Given the description of an element on the screen output the (x, y) to click on. 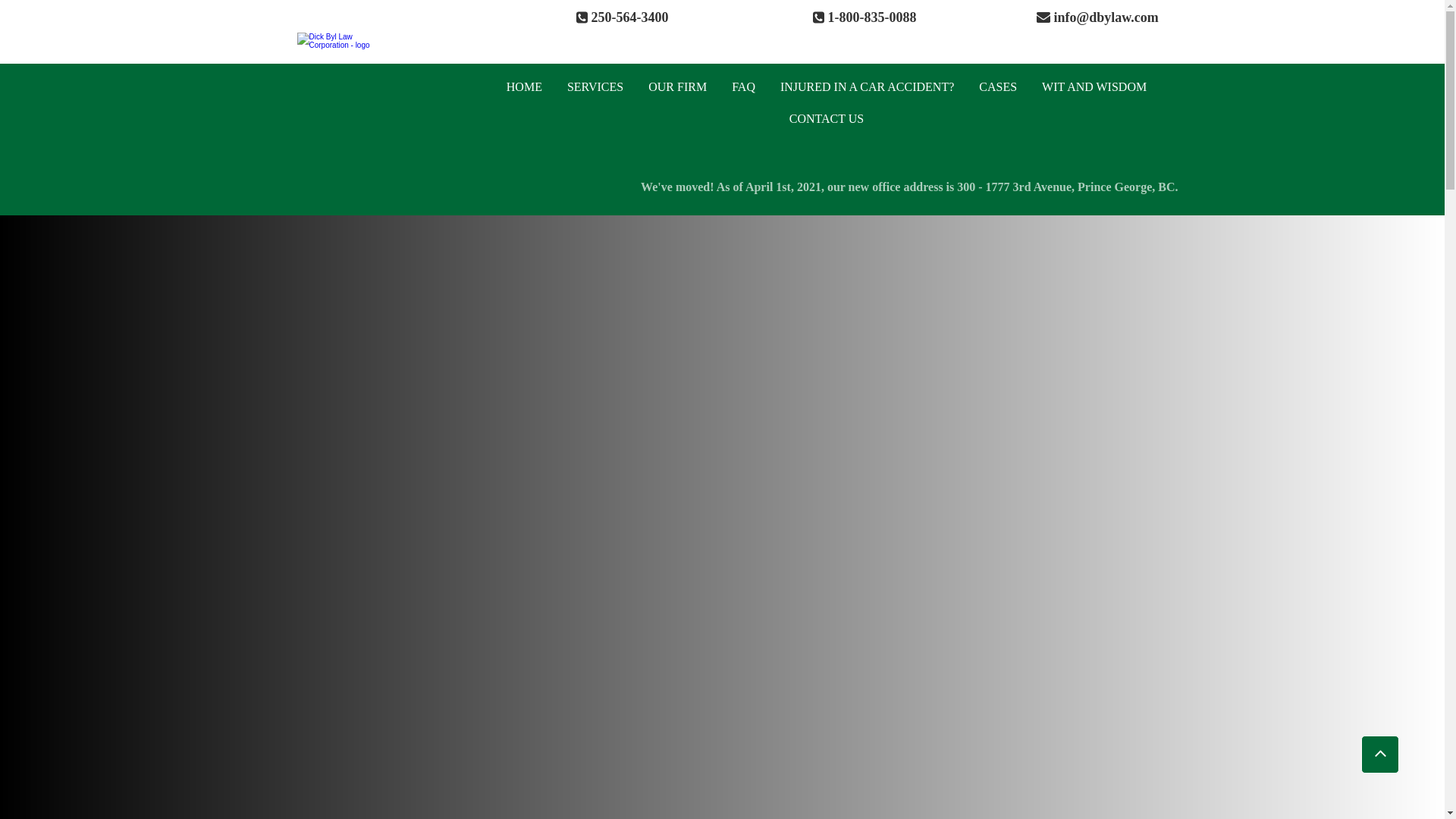
CASES (997, 87)
WIT AND WISDOM (1093, 87)
250-564-3400 (629, 19)
FAQ (742, 87)
INJURED IN A CAR ACCIDENT? (866, 87)
1-800-835-0088 (872, 19)
CONTACT US (826, 119)
HOME (524, 87)
OUR FIRM (677, 87)
SERVICES (594, 87)
